Given the description of an element on the screen output the (x, y) to click on. 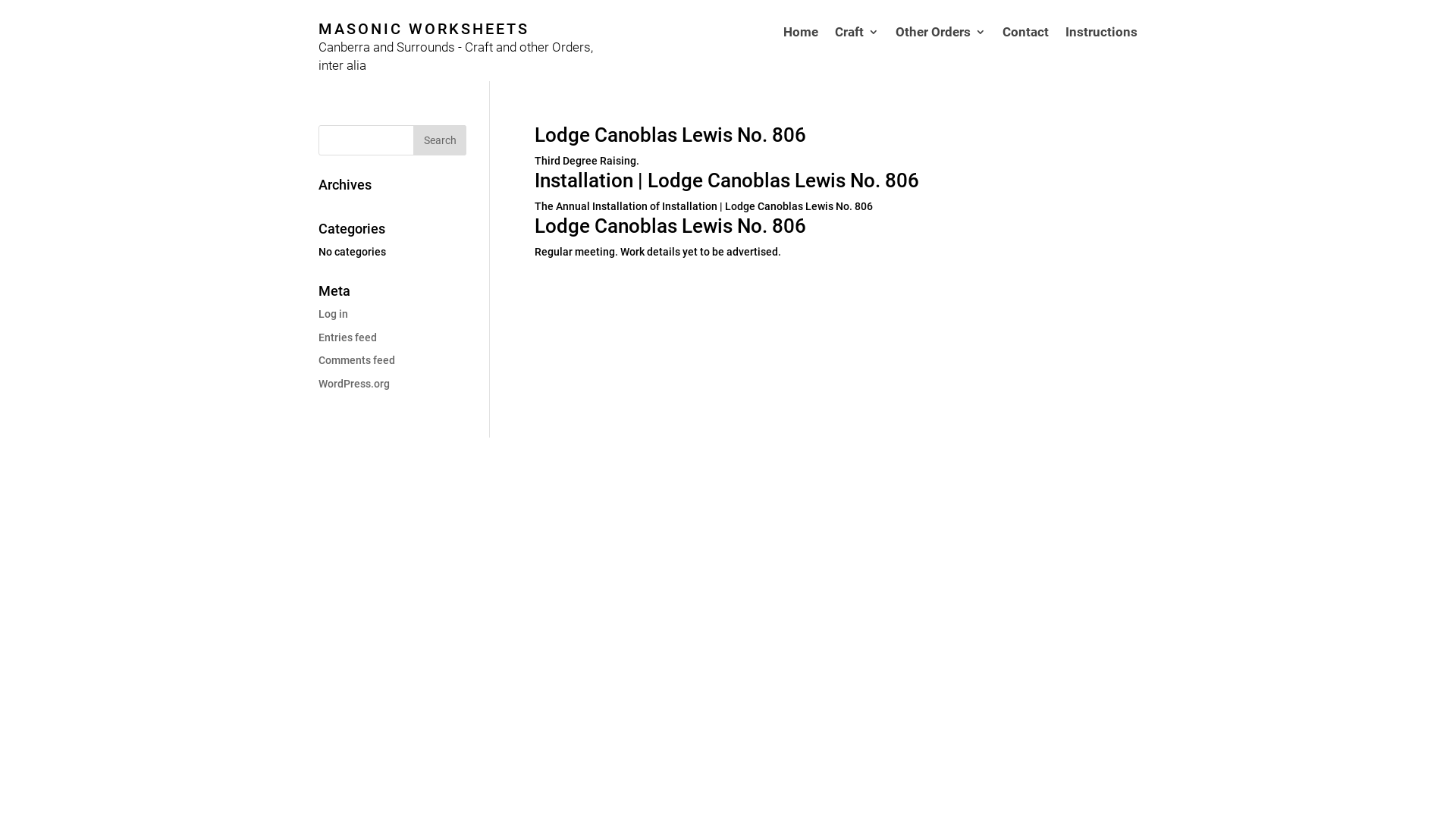
Instructions Element type: text (1101, 53)
Entries feed Element type: text (347, 337)
Other Orders Element type: text (940, 53)
Installation | Lodge Canoblas Lewis No. 806 Element type: text (726, 180)
Search Element type: text (439, 140)
Log in Element type: text (333, 313)
Lodge Canoblas Lewis No. 806 Element type: text (670, 134)
Contact Element type: text (1025, 53)
Craft Element type: text (856, 53)
Lodge Canoblas Lewis No. 806 Element type: text (670, 225)
Comments feed Element type: text (356, 360)
WordPress.org Element type: text (353, 383)
Home Element type: text (800, 53)
